Given the description of an element on the screen output the (x, y) to click on. 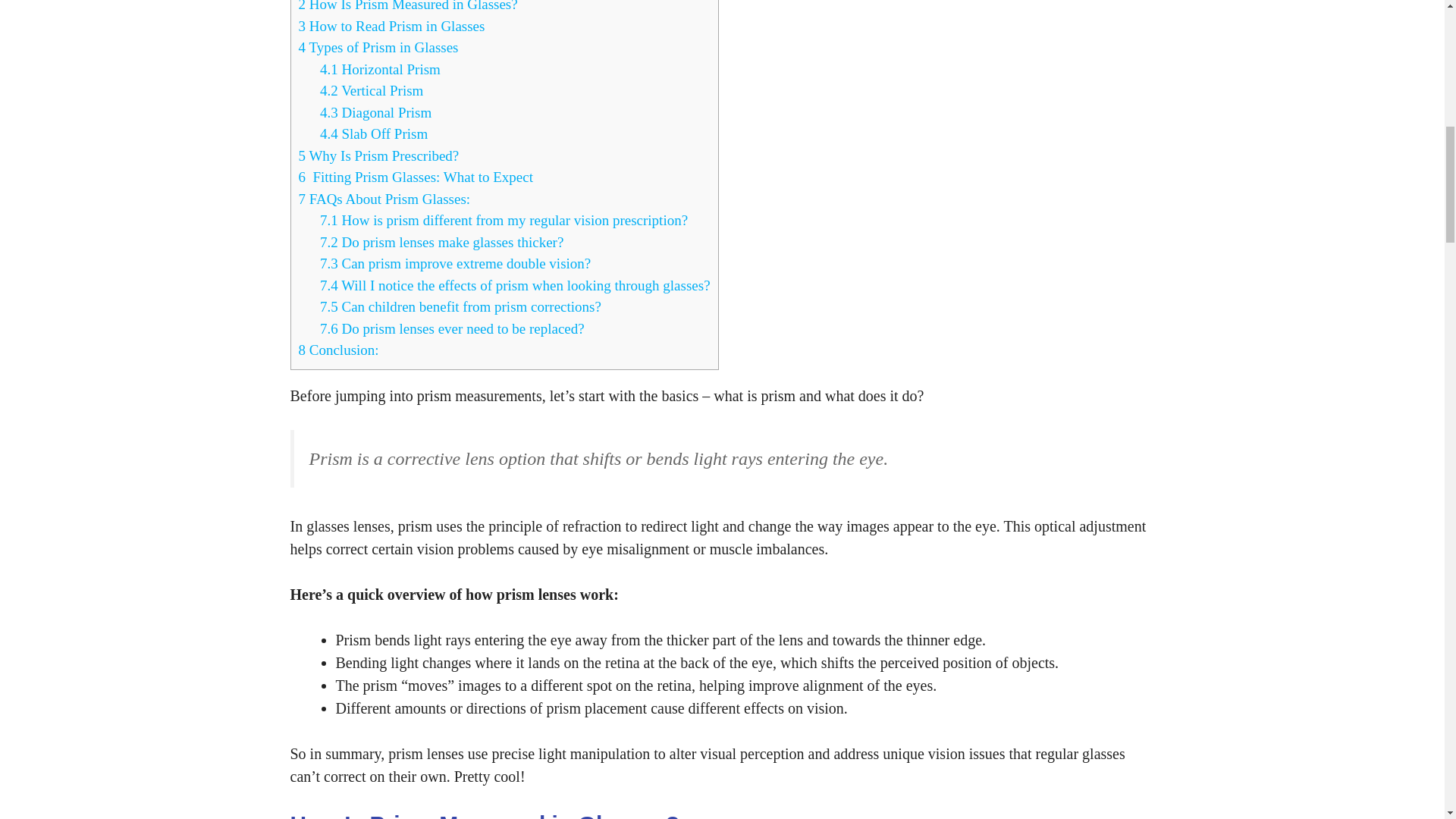
4.4 Slab Off Prism (374, 133)
4.3 Diagonal Prism (375, 112)
7.5 Can children benefit from prism corrections? (460, 306)
3 How to Read Prism in Glasses (391, 26)
7.2 Do prism lenses make glasses thicker? (441, 241)
8 Conclusion: (338, 349)
4.2 Vertical Prism (371, 90)
7.6 Do prism lenses ever need to be replaced? (452, 327)
4 Types of Prism in Glasses (378, 47)
